Given the description of an element on the screen output the (x, y) to click on. 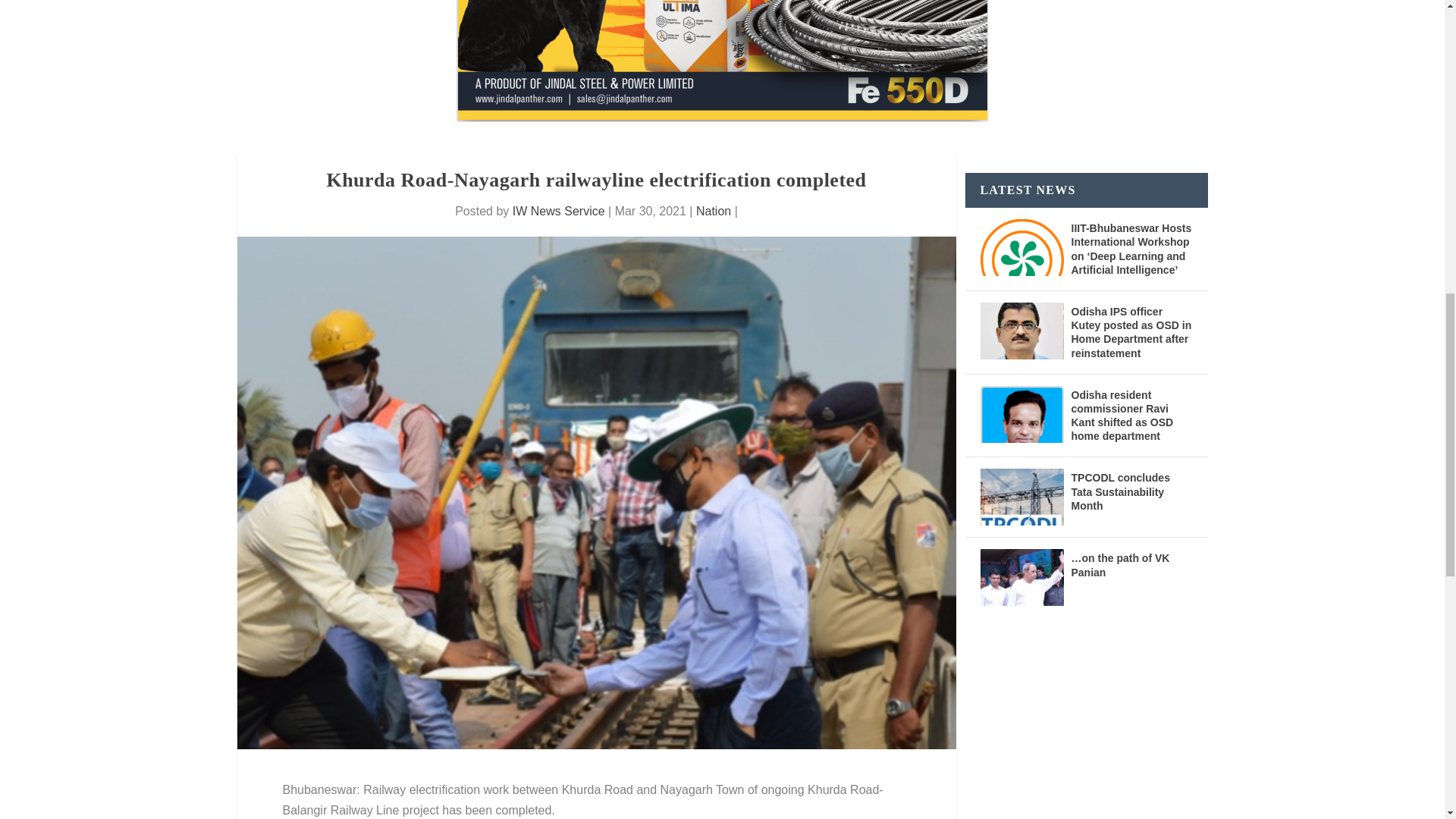
Posts by IW News Service (558, 210)
